Given the description of an element on the screen output the (x, y) to click on. 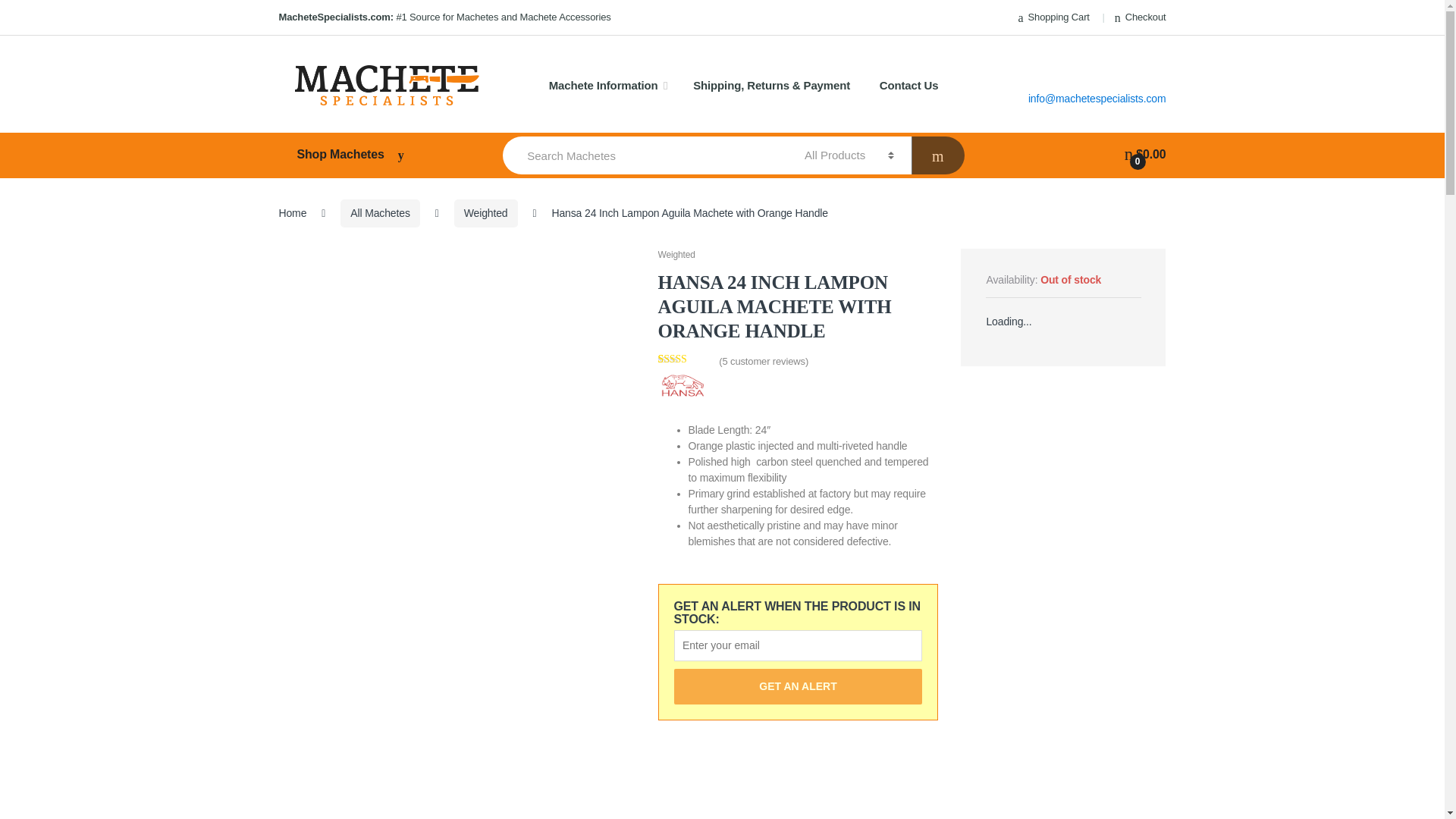
Checkout (1140, 17)
Machete Information (608, 85)
Contact Us (909, 85)
 Shopping Cart (1051, 17)
Machete Information (608, 85)
Shop Machetes (385, 154)
Checkout (1140, 17)
